Given the description of an element on the screen output the (x, y) to click on. 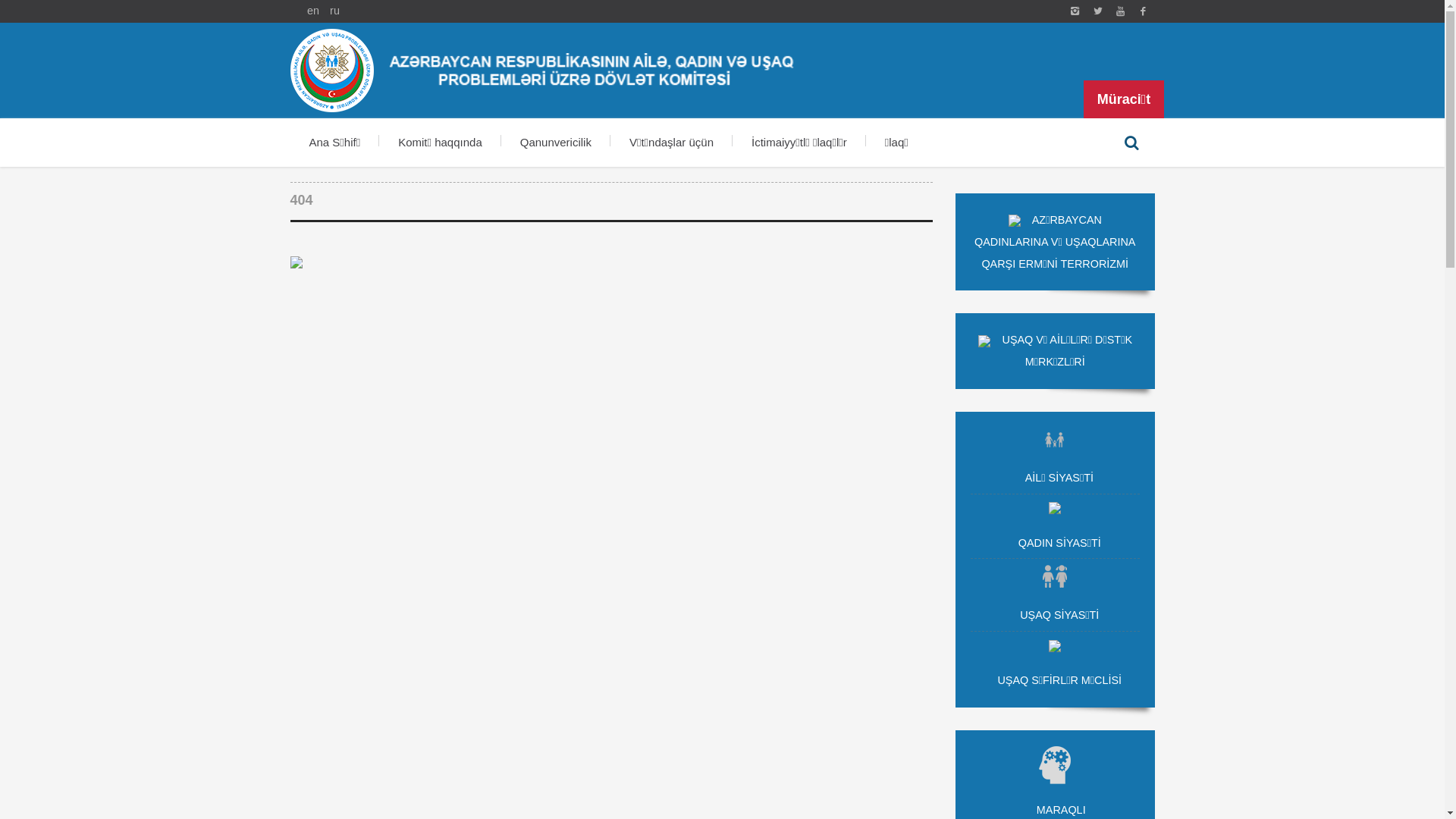
instagram Element type: text (1074, 11)
en Element type: text (313, 10)
Qanunvericilik Element type: text (555, 142)
YOUTUBE Element type: text (1119, 11)
The State Committee for Family, Women and Children Affairs Element type: text (1142, 11)
ru Element type: text (334, 10)
Twitter Element type: text (1096, 11)
Axtar Element type: text (1131, 142)
